Given the description of an element on the screen output the (x, y) to click on. 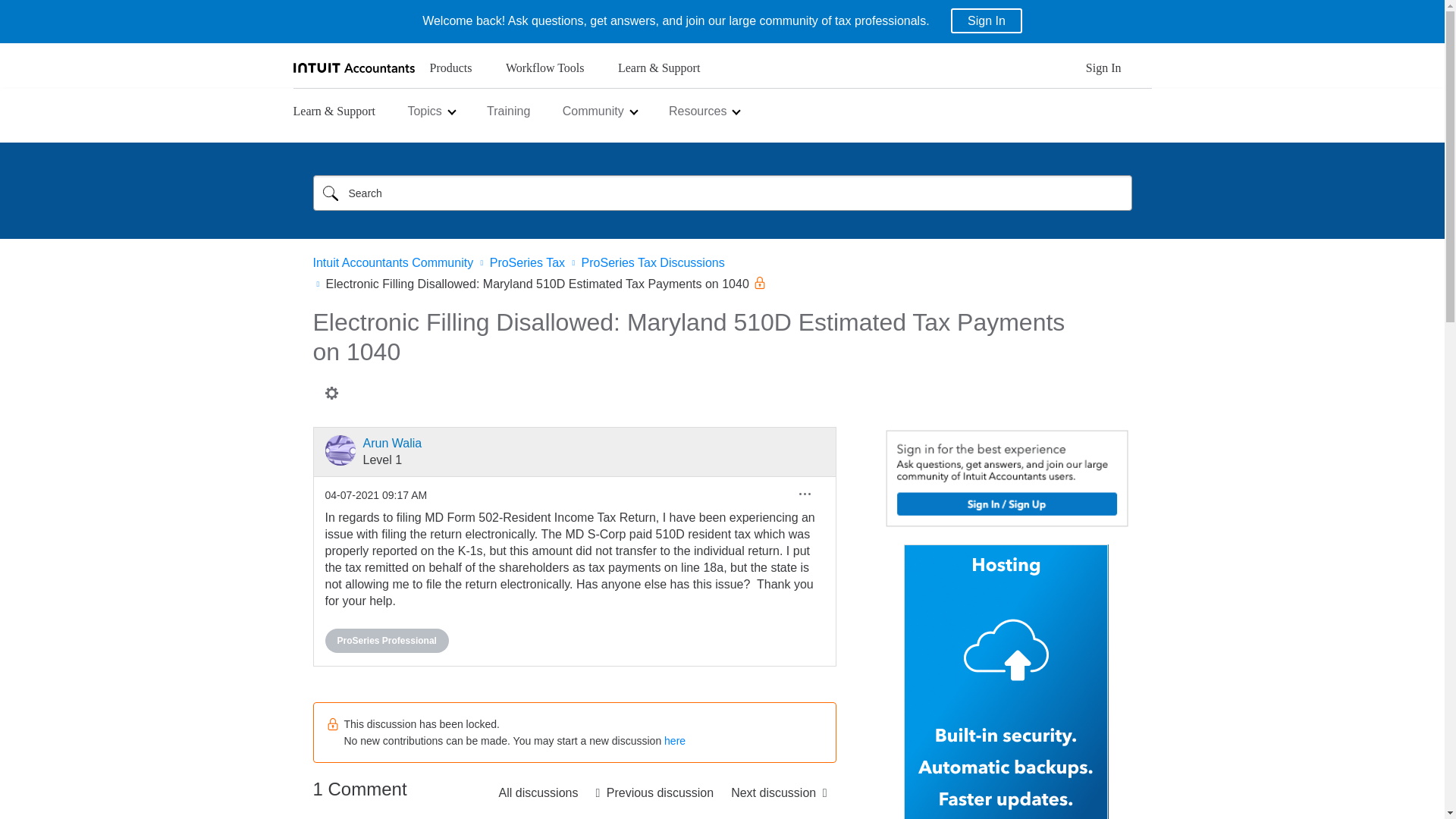
Search (330, 192)
Sign In (986, 20)
Sign In (1103, 72)
Posted on (375, 494)
ProSeries Tax Discussions (538, 792)
Arun Walia (339, 450)
Show option menu (331, 392)
Search (330, 192)
